Given the description of an element on the screen output the (x, y) to click on. 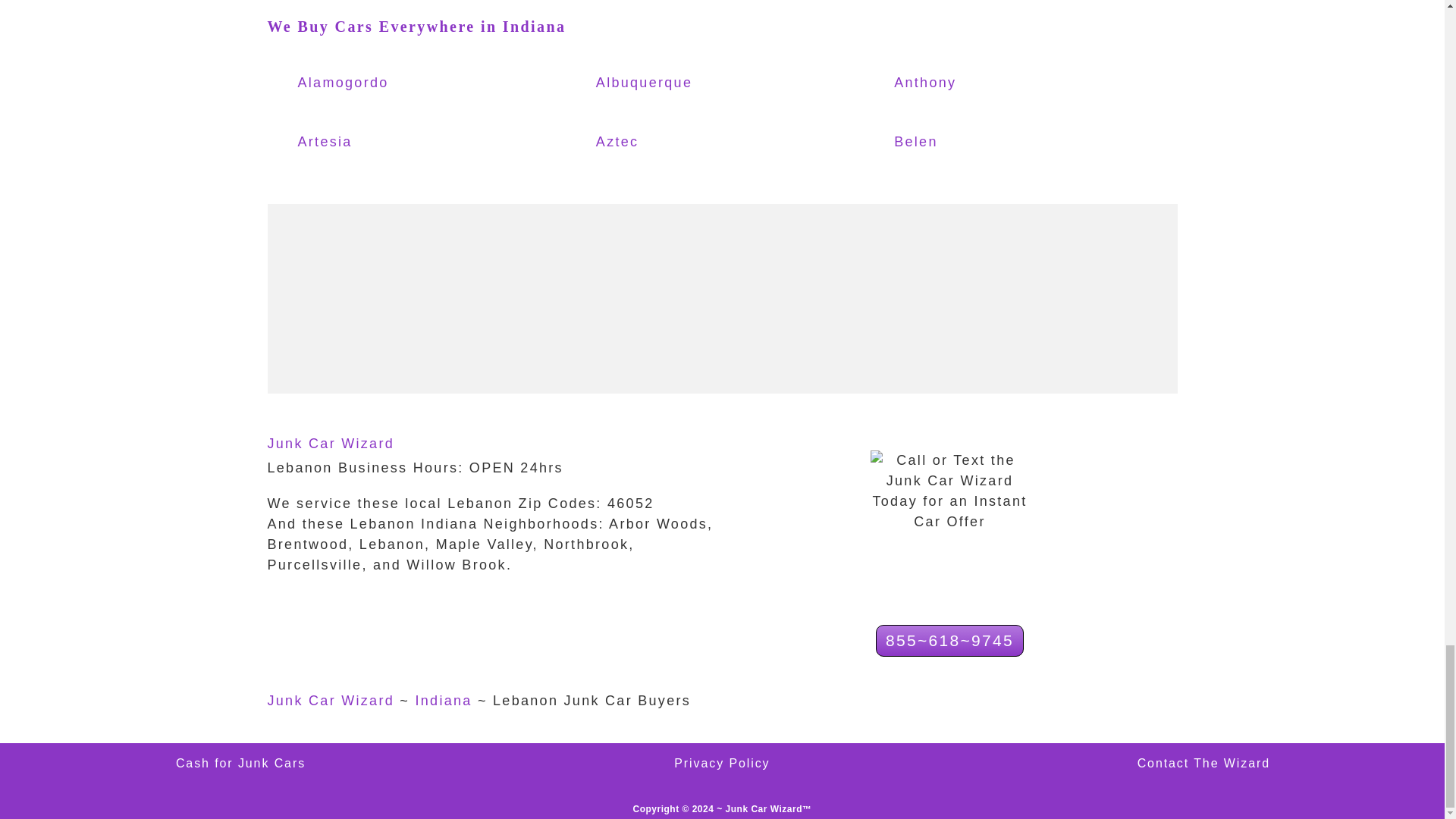
Albuquerque (662, 82)
We Buy Junk Cars in Artesia, NM (363, 142)
We Buy Junk Cars in Belen, NM (960, 142)
Indiana (442, 700)
Belen (960, 142)
We Buy Junk Cars in Anthony, NM (960, 82)
We Buy Cars Everywhere in Indiana (416, 26)
Alamogordo (363, 82)
We Buy Junk Cars in Albuquerque, NM (662, 82)
